Given the description of an element on the screen output the (x, y) to click on. 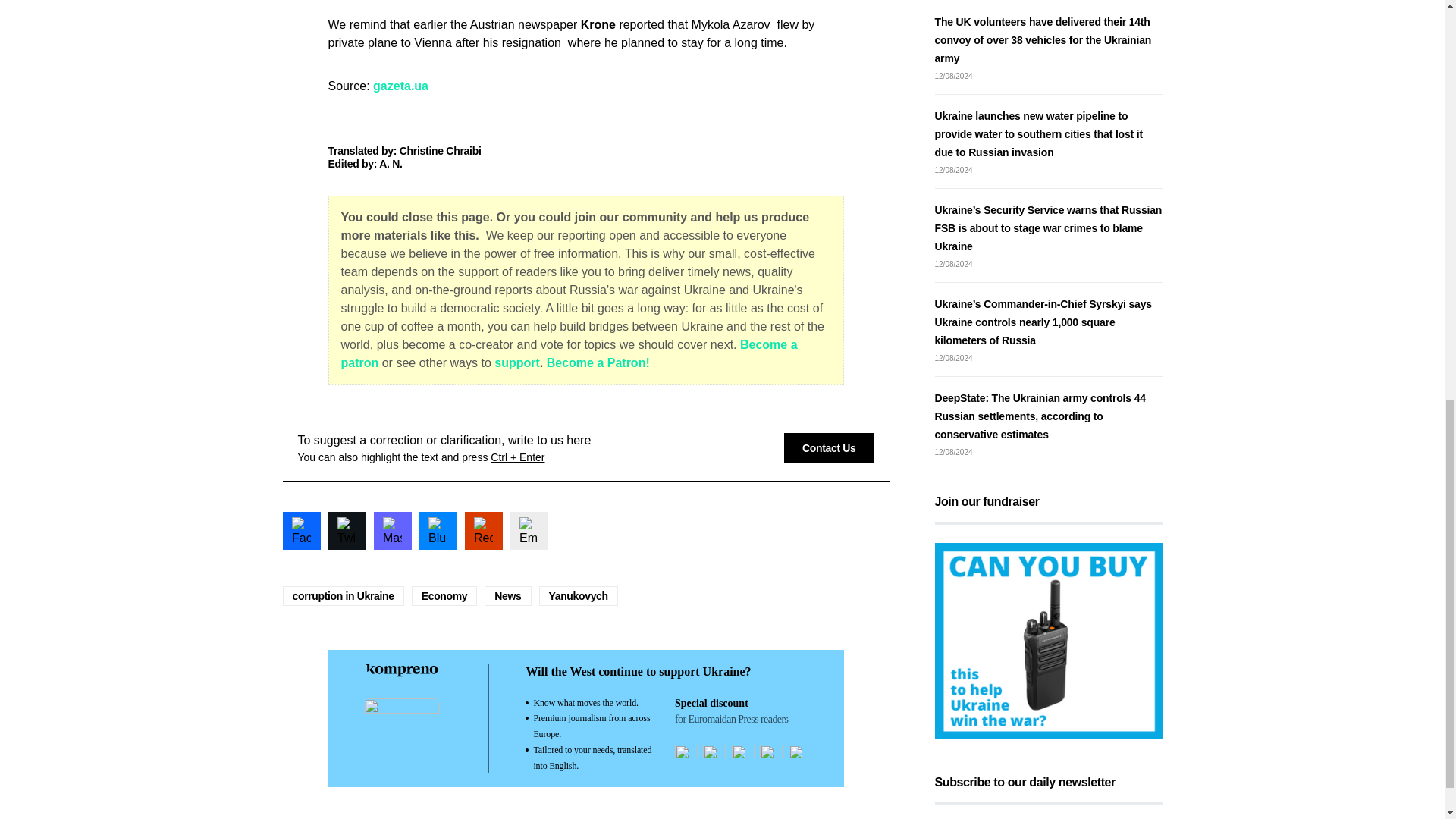
Share to Twitter (346, 529)
Share to Reddit (483, 529)
Share to Email (528, 529)
Share to Mastodon (391, 529)
Share to Bluesky (438, 529)
Share to Facebook (301, 529)
